Given the description of an element on the screen output the (x, y) to click on. 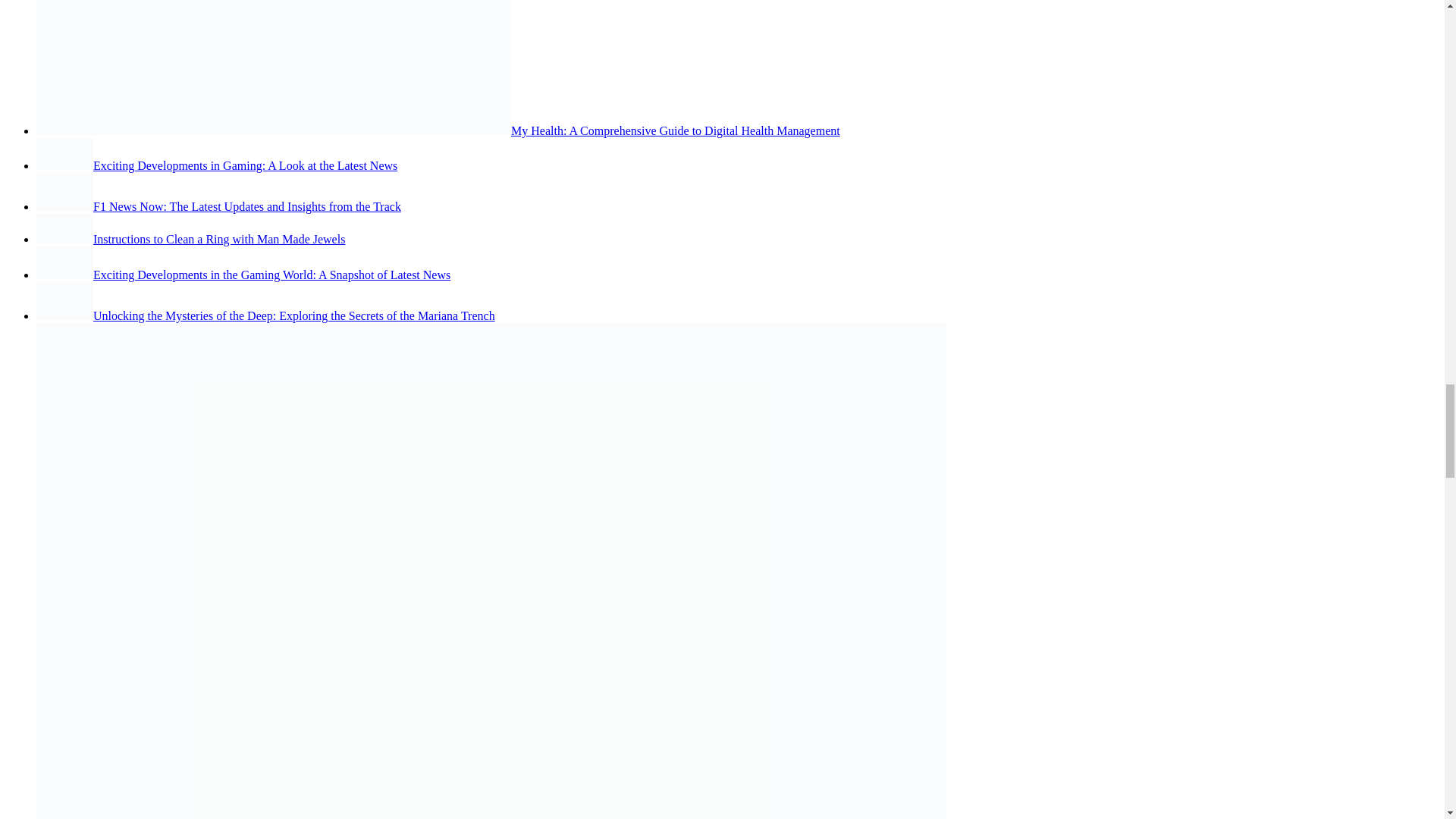
F1 News Now (64, 191)
